Given the description of an element on the screen output the (x, y) to click on. 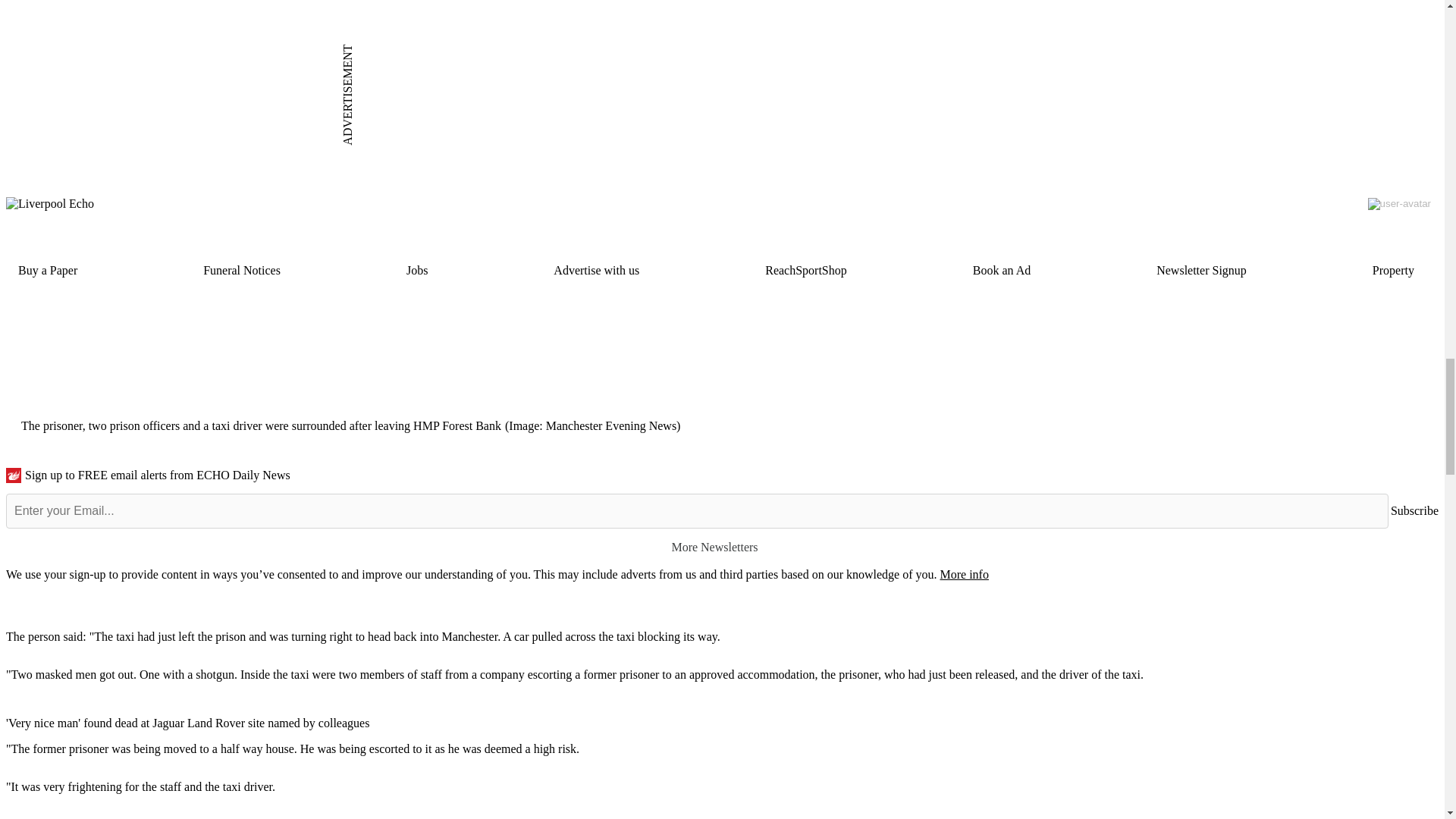
More Newsletters (722, 546)
More info (963, 574)
